Given the description of an element on the screen output the (x, y) to click on. 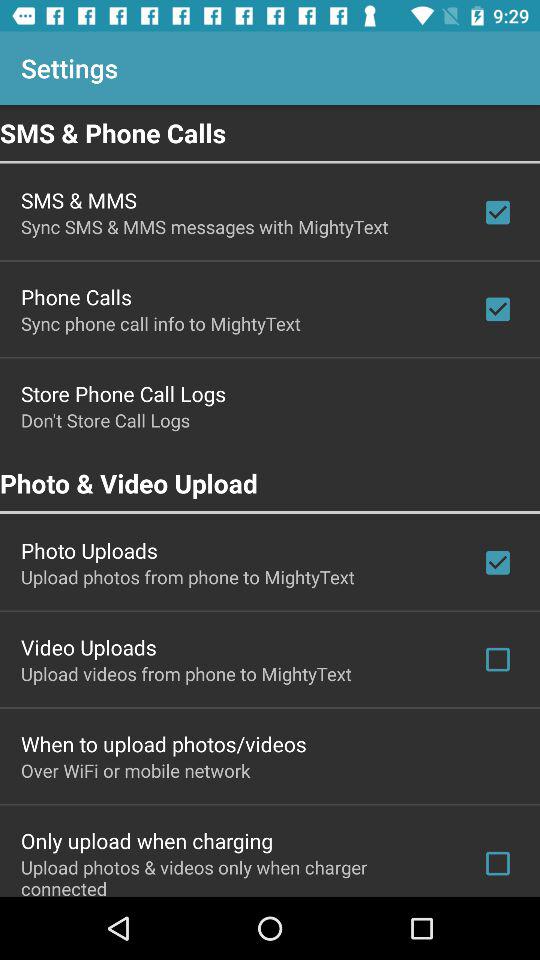
launch the item below store phone call icon (105, 420)
